Given the description of an element on the screen output the (x, y) to click on. 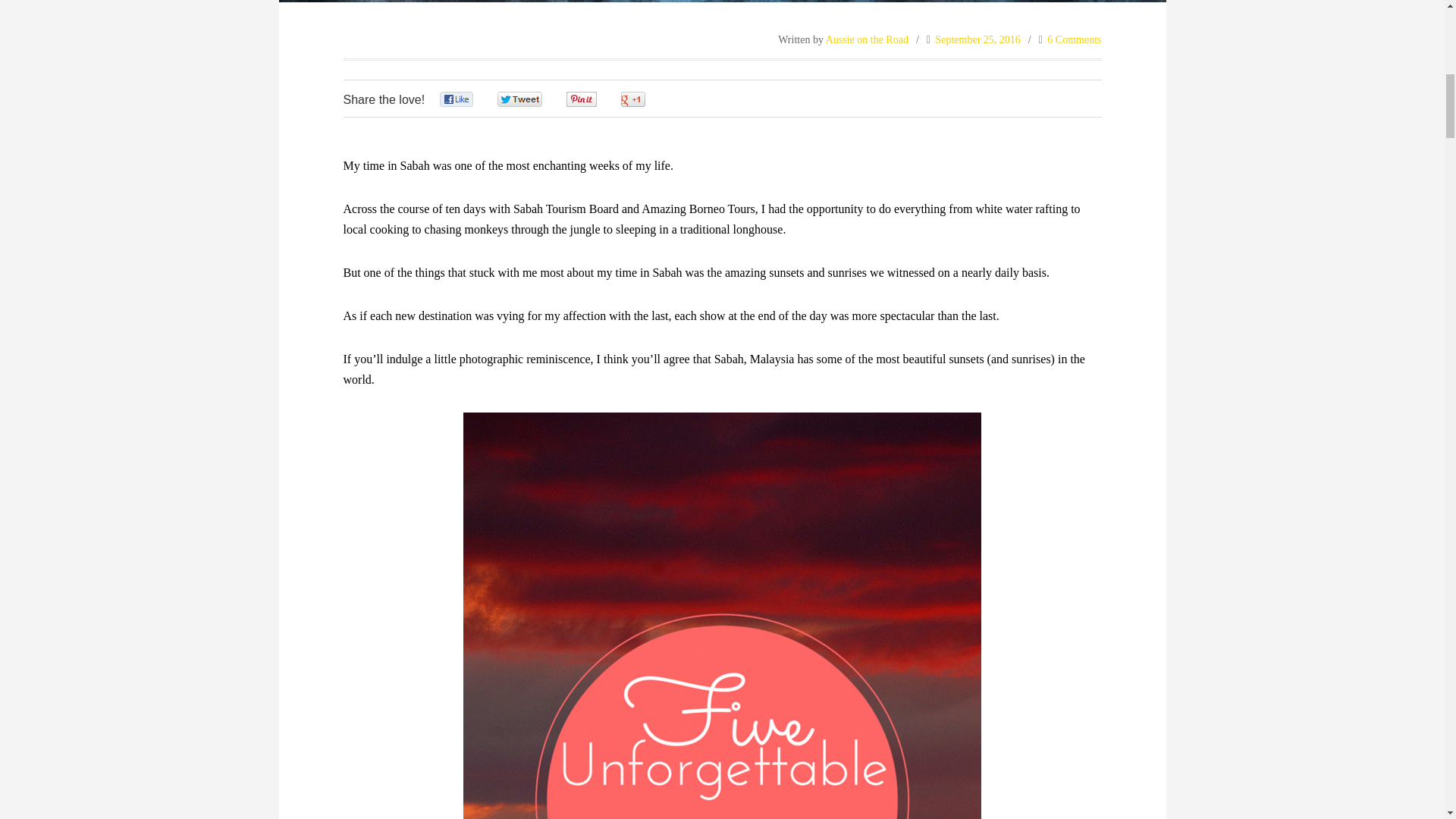
Be the first one to tweet this article! (535, 99)
